Given the description of an element on the screen output the (x, y) to click on. 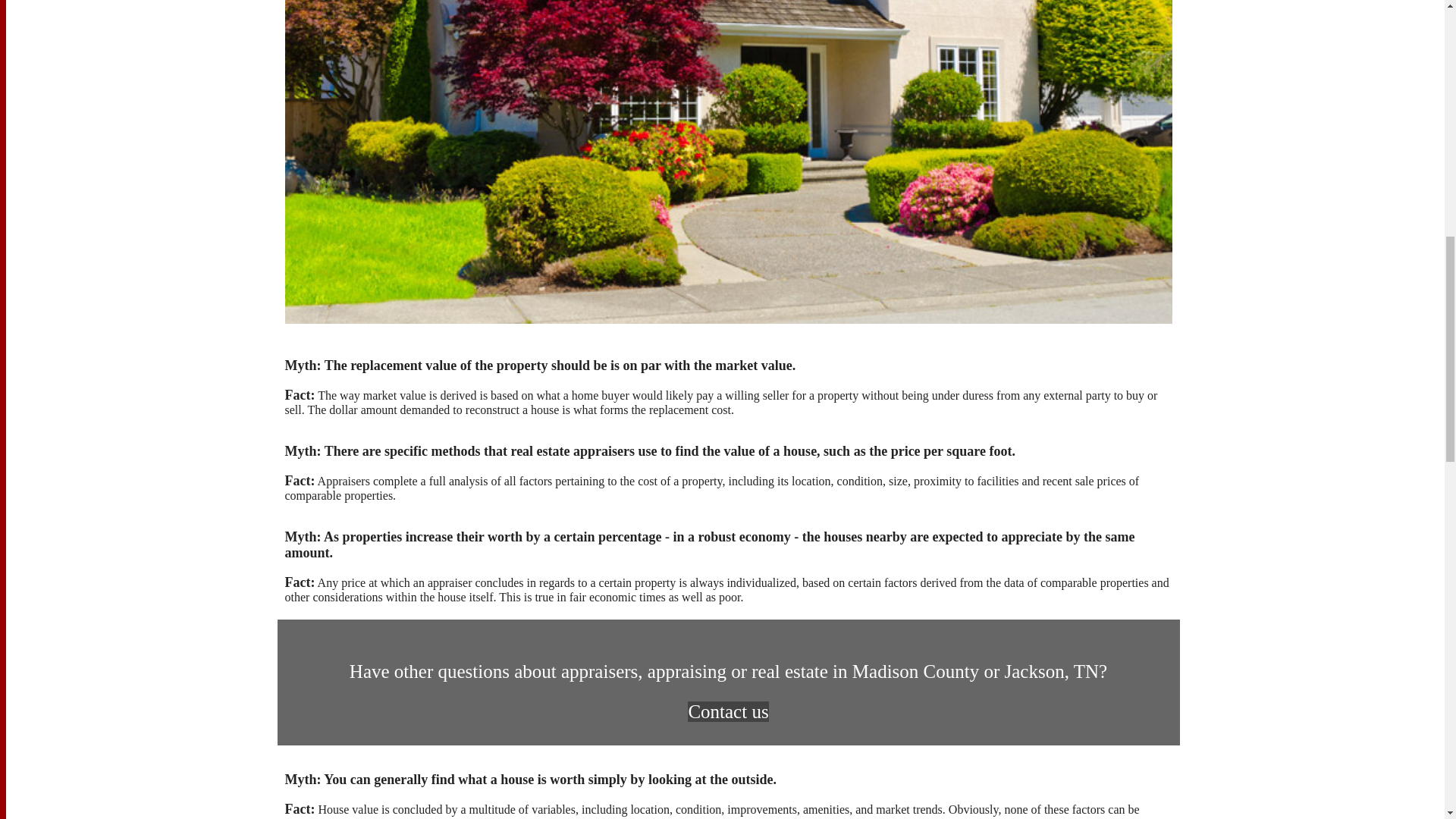
Contact us (727, 711)
